Given the description of an element on the screen output the (x, y) to click on. 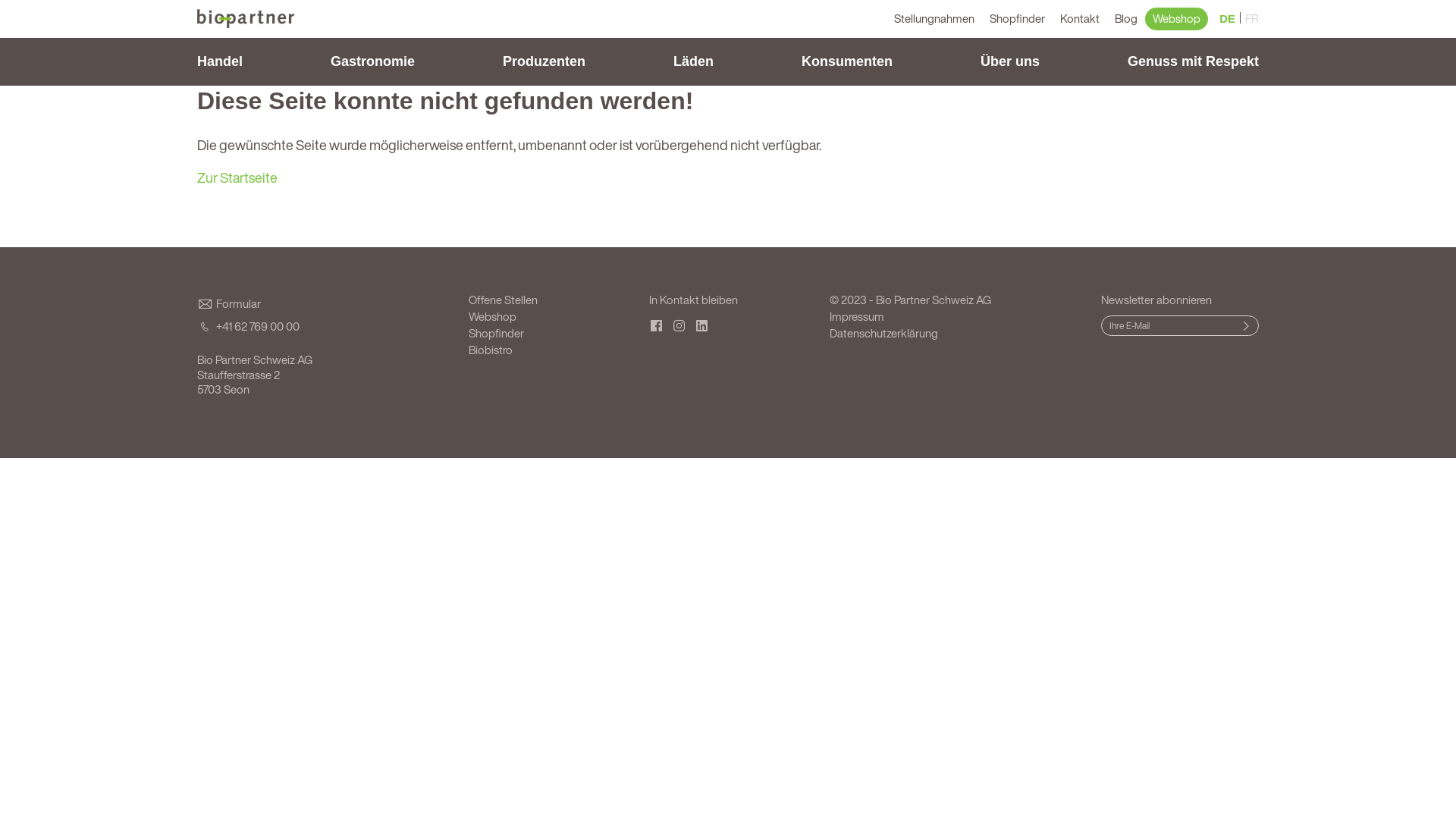
LinkedIn Element type: hover (705, 325)
Handel Element type: text (223, 61)
DE Element type: text (1227, 18)
Offene Stellen Element type: text (502, 299)
Facebook Element type: hover (660, 325)
Stellungnahmen Element type: text (934, 18)
FR Element type: text (1251, 18)
Biobistro Element type: text (490, 349)
Webshop Element type: text (492, 315)
Blog Element type: text (1126, 18)
Home Element type: hover (245, 18)
Instagram Element type: hover (682, 325)
Shopfinder Element type: text (496, 332)
Zur Startseite Element type: text (237, 177)
Gastronomie Element type: text (372, 61)
Genuss mit Respekt Element type: text (1189, 61)
Kontakt Element type: text (1079, 18)
Konsumenten Element type: text (846, 61)
Shopfinder Element type: text (1017, 18)
Impressum Element type: text (856, 315)
Formular Element type: text (321, 303)
Webshop Element type: text (1176, 18)
Produzenten Element type: text (544, 61)
+41 62 769 00 00 Element type: text (321, 326)
